Given the description of an element on the screen output the (x, y) to click on. 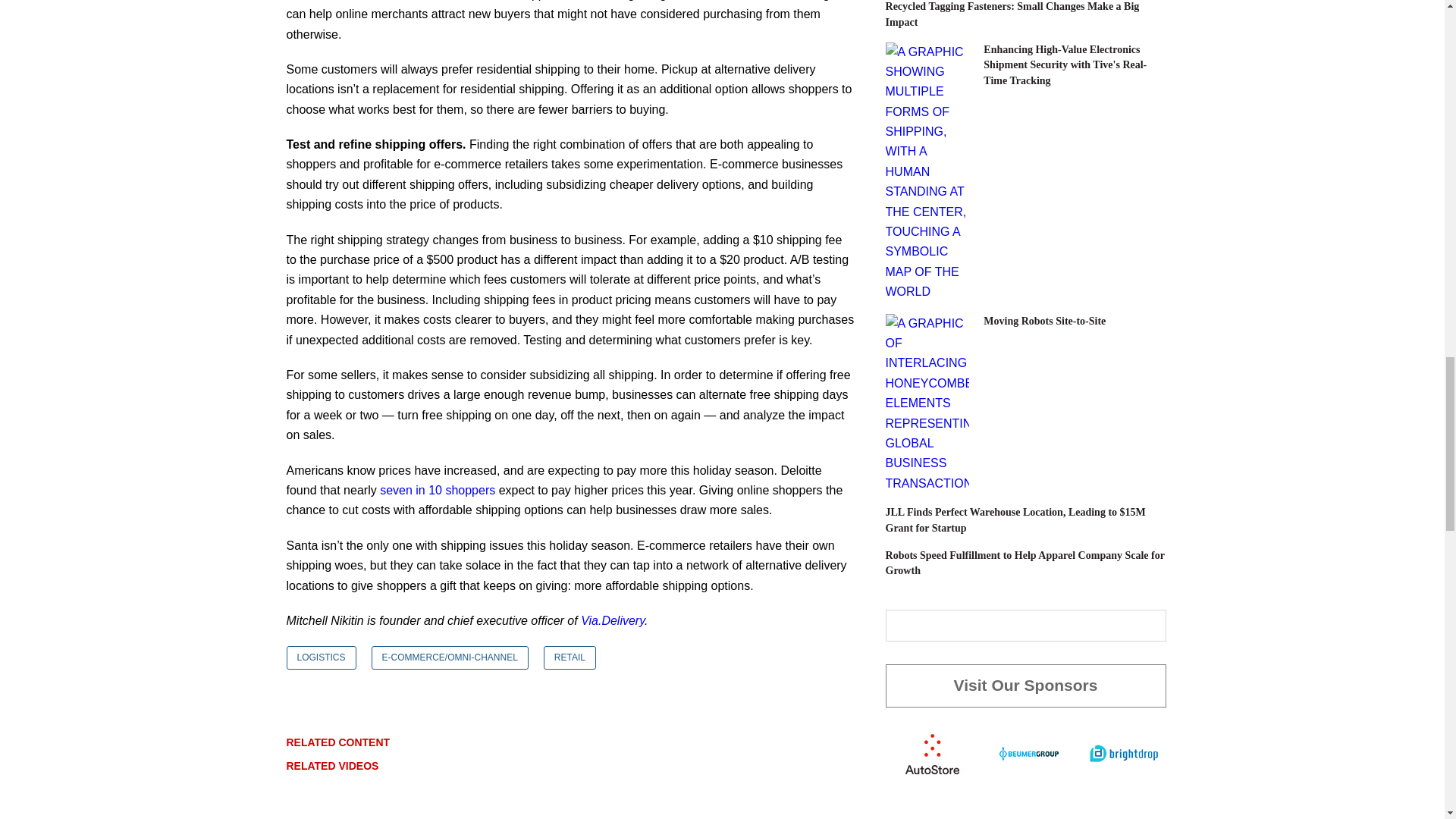
P65 TIVE.jpg (927, 172)
Brightdrop (1123, 752)
P66 EXOTEC.jpg (927, 403)
AutoStore (932, 752)
Beumer Group (1028, 752)
